Given the description of an element on the screen output the (x, y) to click on. 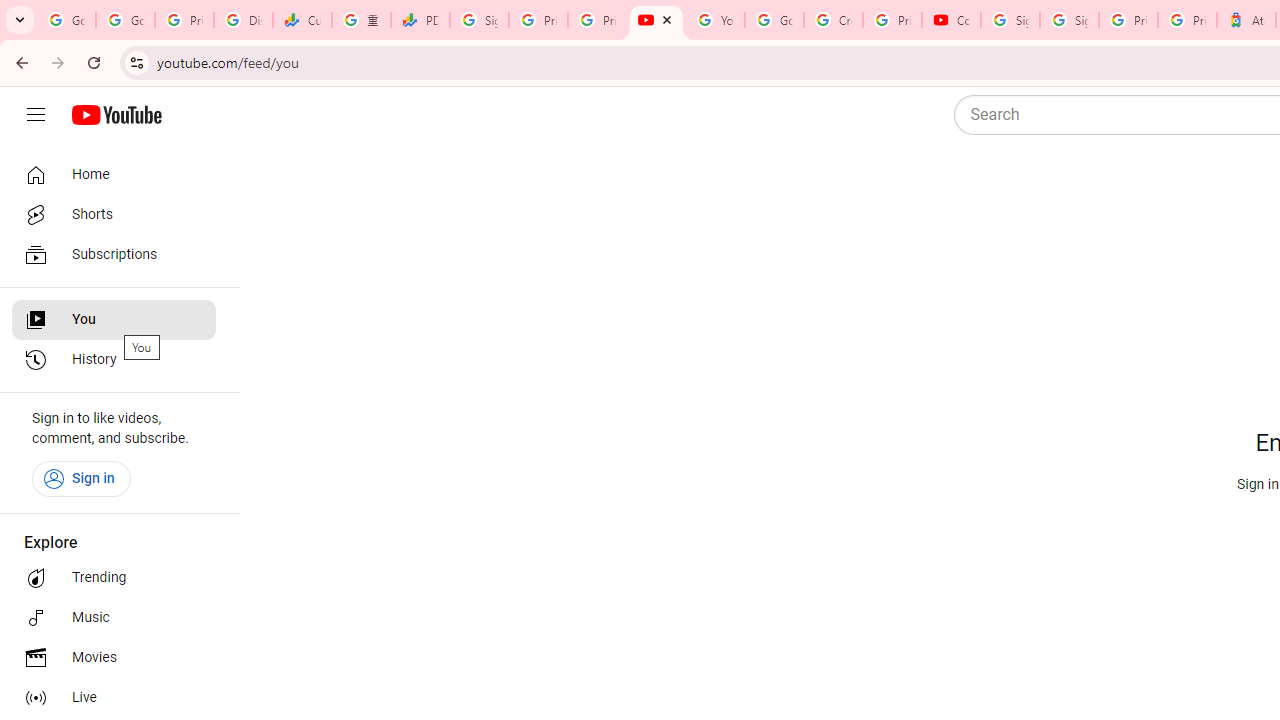
Sign in - Google Accounts (1069, 20)
Home (113, 174)
Guide (35, 115)
YouTube Home (116, 115)
Sign in - Google Accounts (1010, 20)
Shorts (113, 214)
